Given the description of an element on the screen output the (x, y) to click on. 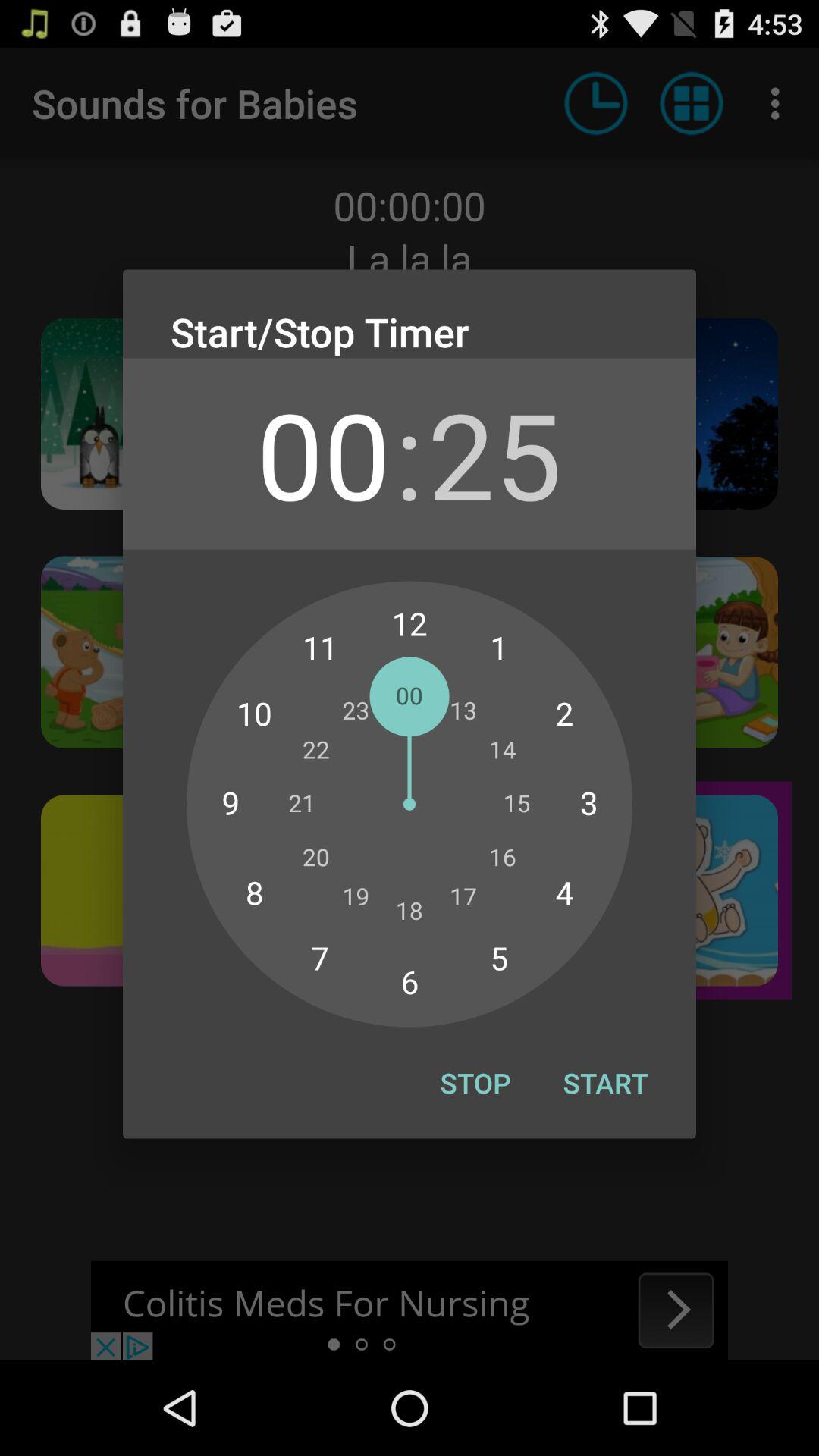
swipe to the 00 (323, 453)
